Given the description of an element on the screen output the (x, y) to click on. 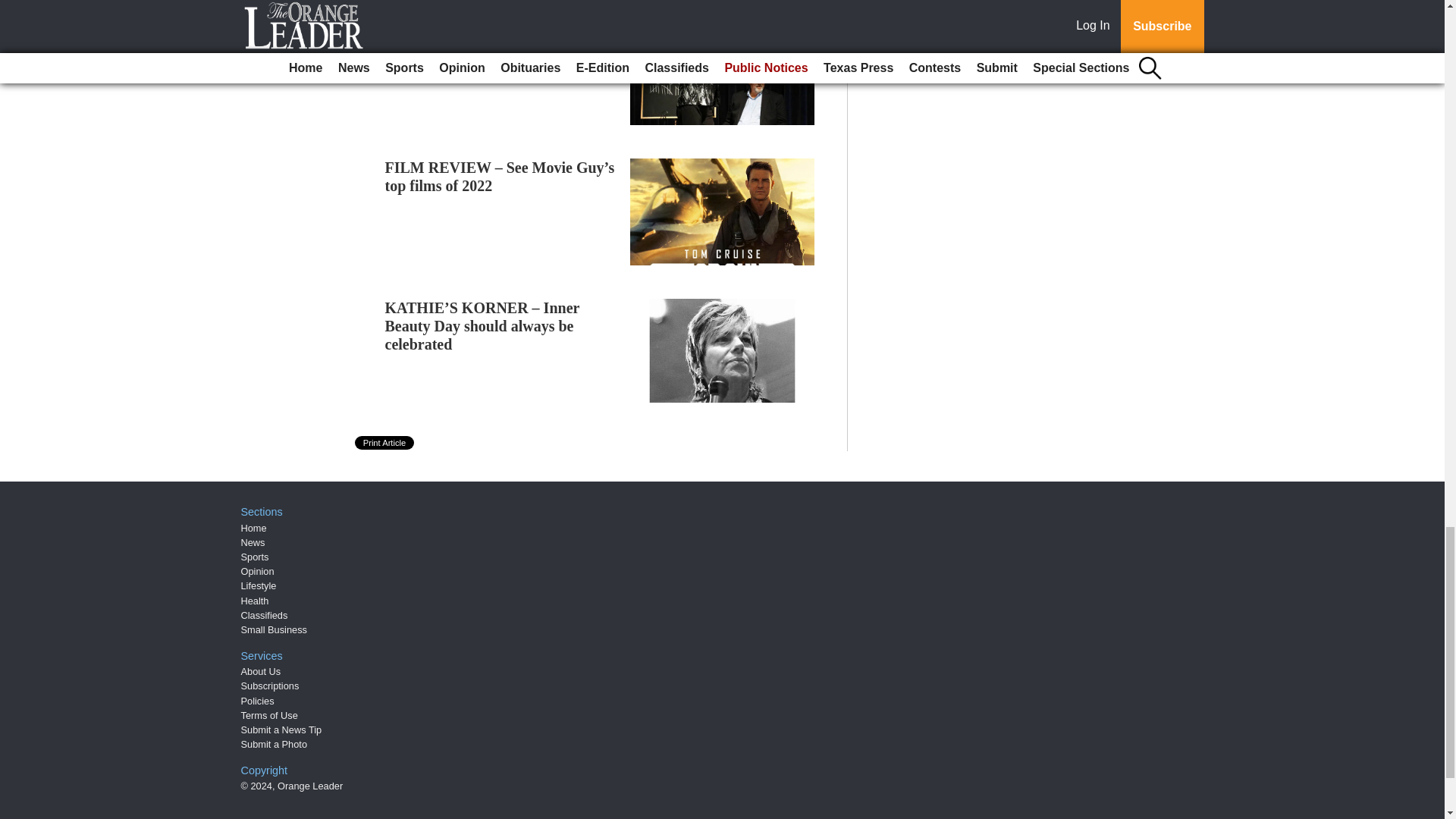
The Not So Newlywed Game brings laughter for a great cause (500, 36)
Home (253, 527)
The Not So Newlywed Game brings laughter for a great cause (500, 36)
Opinion (258, 571)
News (252, 542)
Sports (255, 556)
Print Article (384, 442)
